Given the description of an element on the screen output the (x, y) to click on. 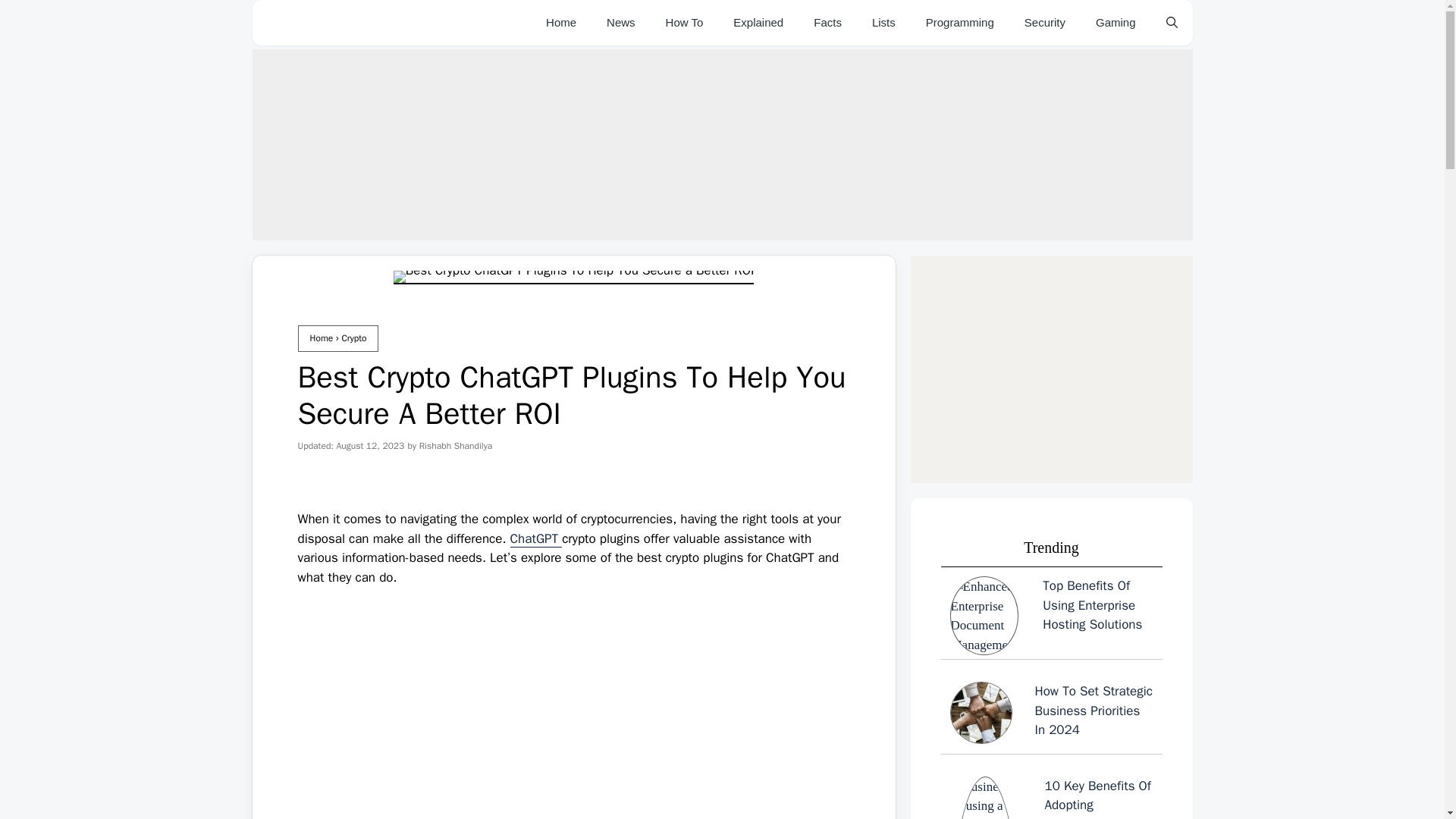
Rishabh Shandilya (456, 445)
Facts (827, 22)
Top Benefits Of Using Enterprise Hosting Solutions (1051, 615)
Lists (884, 22)
Programming (960, 22)
Top Lists (884, 22)
How To Set Strategic Business Priorities In 2024 (1051, 715)
Explained (757, 22)
ChatGPT (536, 538)
Home (320, 337)
Home (561, 22)
Crypto (353, 337)
How To (684, 22)
News (620, 22)
